Given the description of an element on the screen output the (x, y) to click on. 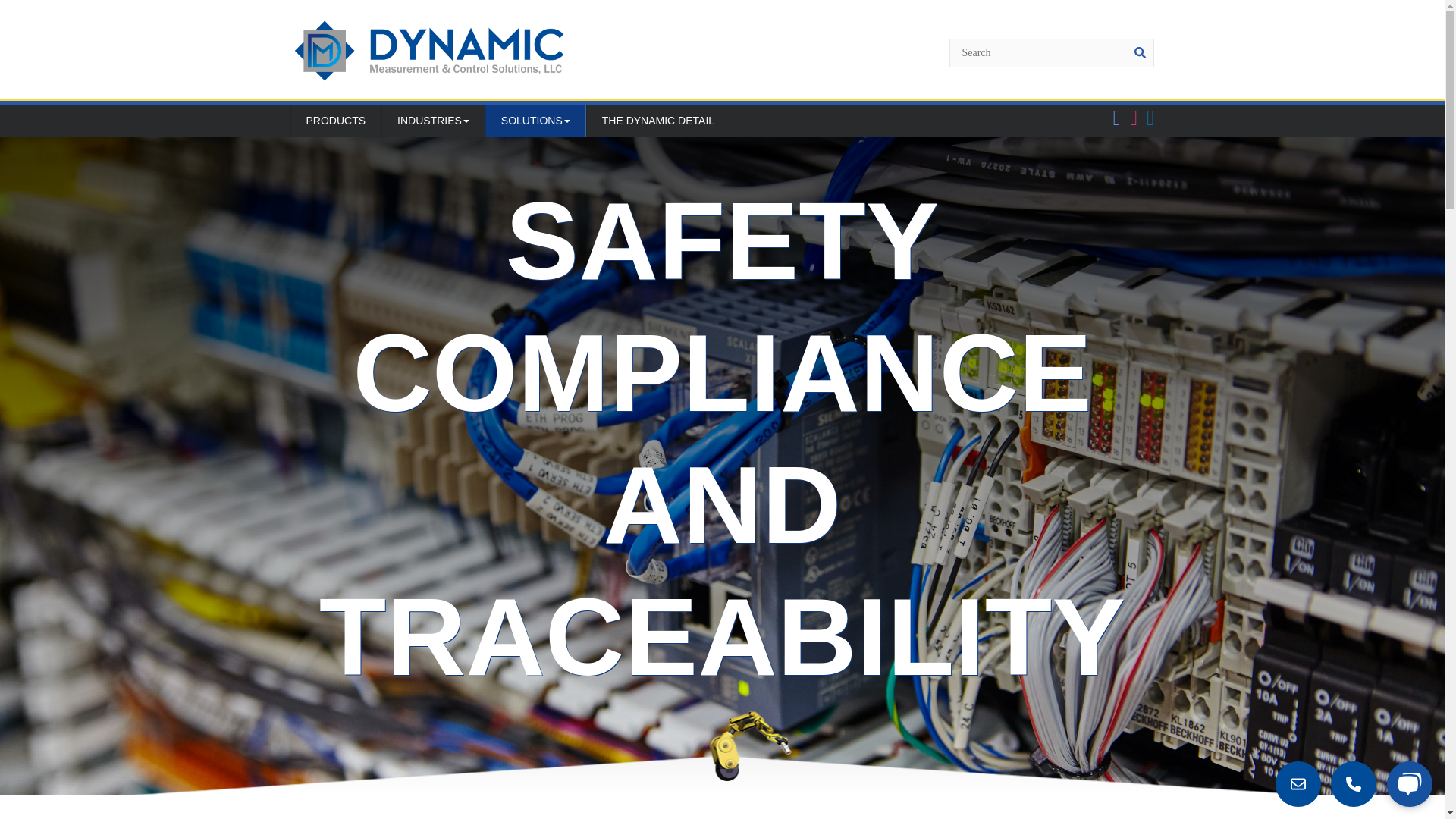
THE DYNAMIC DETAIL (658, 120)
SOLUTIONS (535, 120)
INDUSTRIES (432, 120)
PRODUCTS (335, 120)
Dynamic Measurement and Control Solutions  (428, 50)
